Given the description of an element on the screen output the (x, y) to click on. 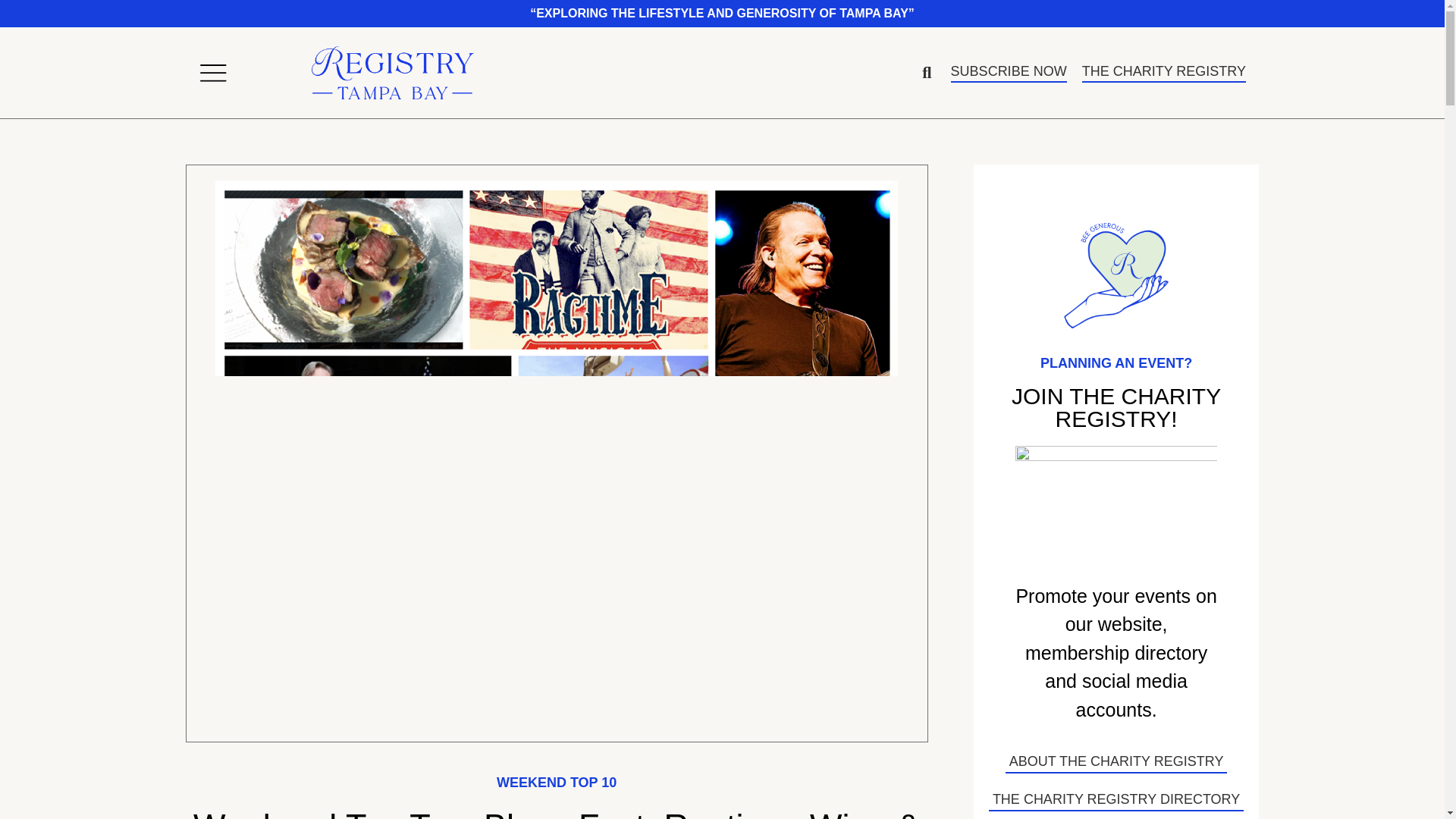
ABOUT THE CHARITY REGISTRY (1116, 762)
THE CHARITY REGISTRY DIRECTORY (1115, 799)
WEEKEND TOP 10 (555, 782)
SUBSCRIBE NOW (1008, 73)
THE CHARITY REGISTRY (1163, 73)
